Given the description of an element on the screen output the (x, y) to click on. 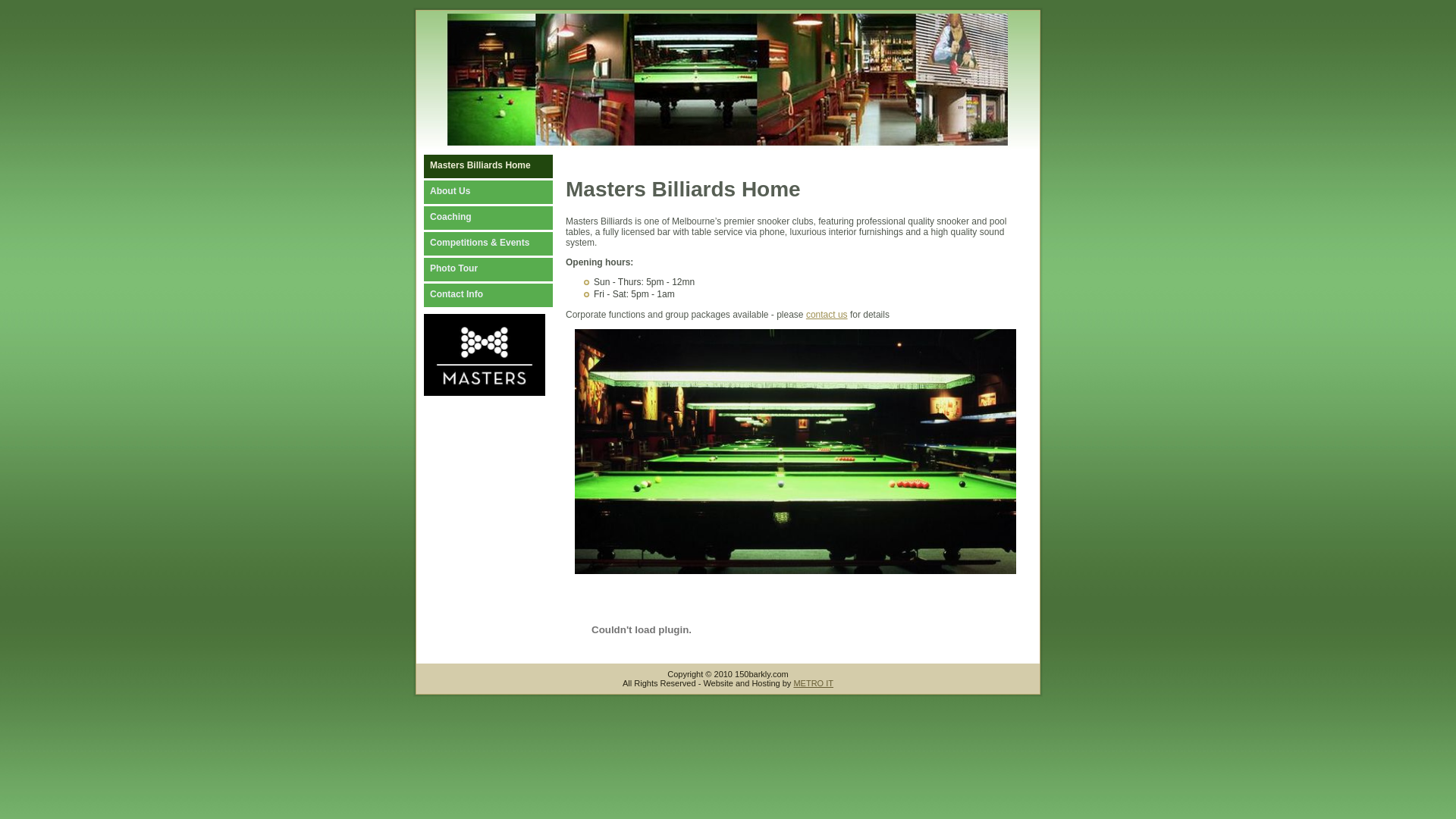
contact us Element type: text (826, 314)
Image Element type: hover (795, 451)
Coaching Element type: text (503, 217)
Photo Tour Element type: text (503, 269)
Masters Billiards Home Element type: text (503, 166)
Competitions & Events Element type: text (503, 243)
About Us Element type: text (503, 191)
METRO IT Element type: text (813, 682)
Contact Info Element type: text (503, 295)
